Given the description of an element on the screen output the (x, y) to click on. 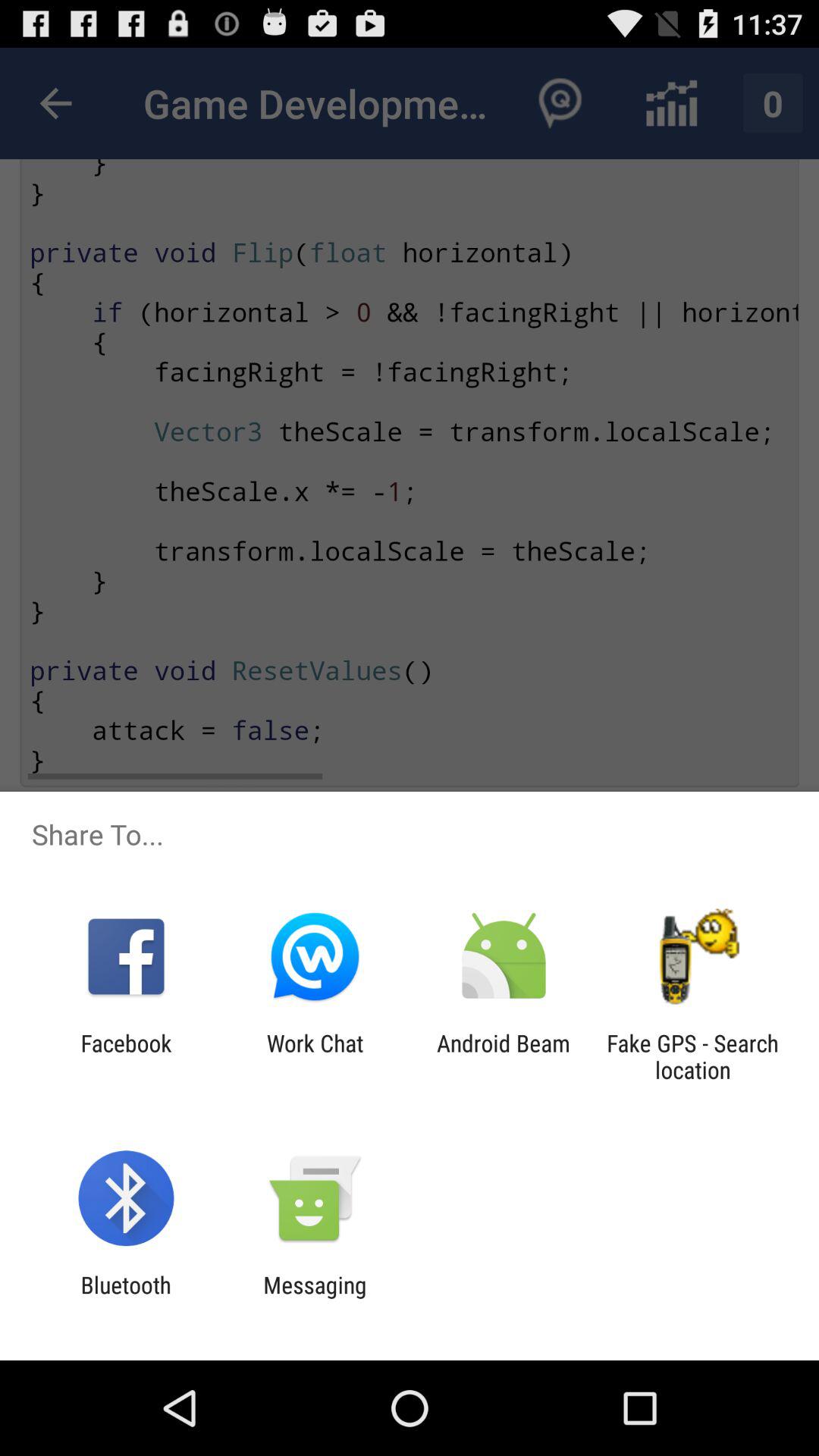
scroll to the bluetooth app (125, 1298)
